Given the description of an element on the screen output the (x, y) to click on. 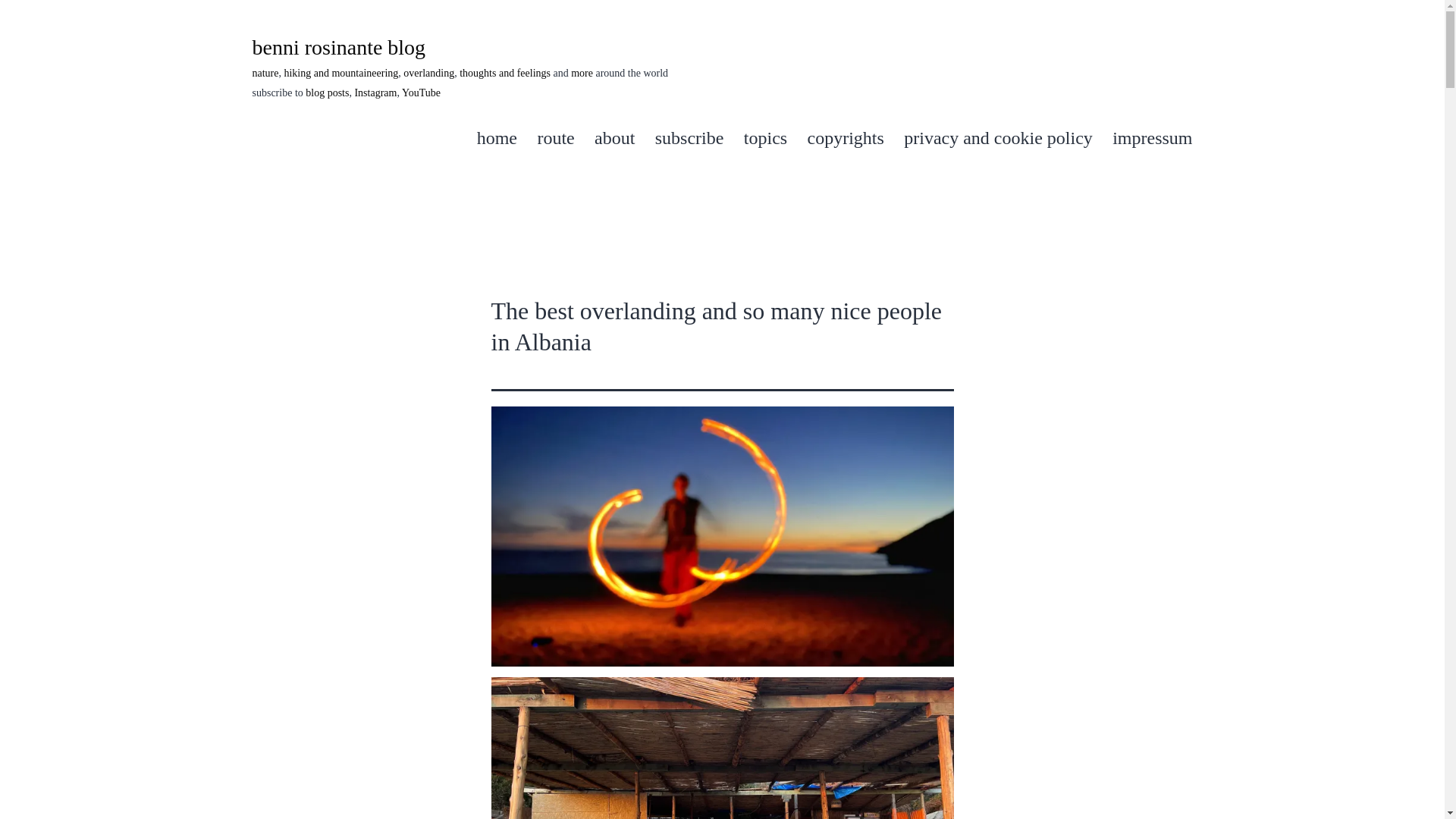
subscribe (689, 137)
more (581, 72)
YouTube (421, 92)
privacy and cookie policy (997, 137)
overlanding (428, 72)
impressum (1152, 137)
copyrights (844, 137)
thoughts and feelings (505, 72)
hiking and mountaineering (340, 72)
home (497, 137)
blog posts (327, 92)
topics (765, 137)
route (556, 137)
benni rosinante blog (338, 47)
about (615, 137)
